Given the description of an element on the screen output the (x, y) to click on. 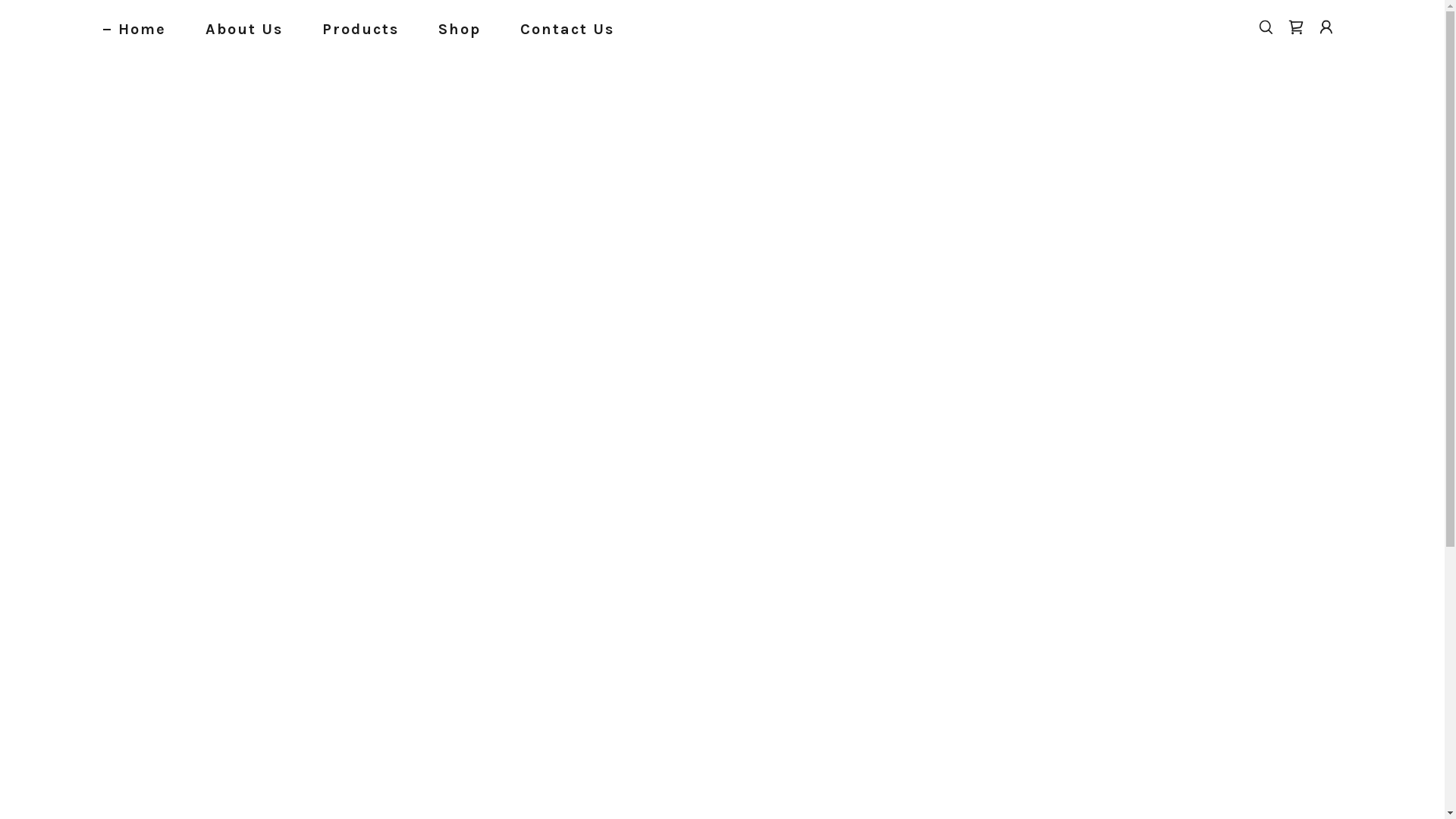
Products Element type: text (352, 28)
Home Element type: text (134, 28)
Contact Us Element type: text (559, 28)
Shop Element type: text (451, 28)
About Us Element type: text (236, 28)
